Given the description of an element on the screen output the (x, y) to click on. 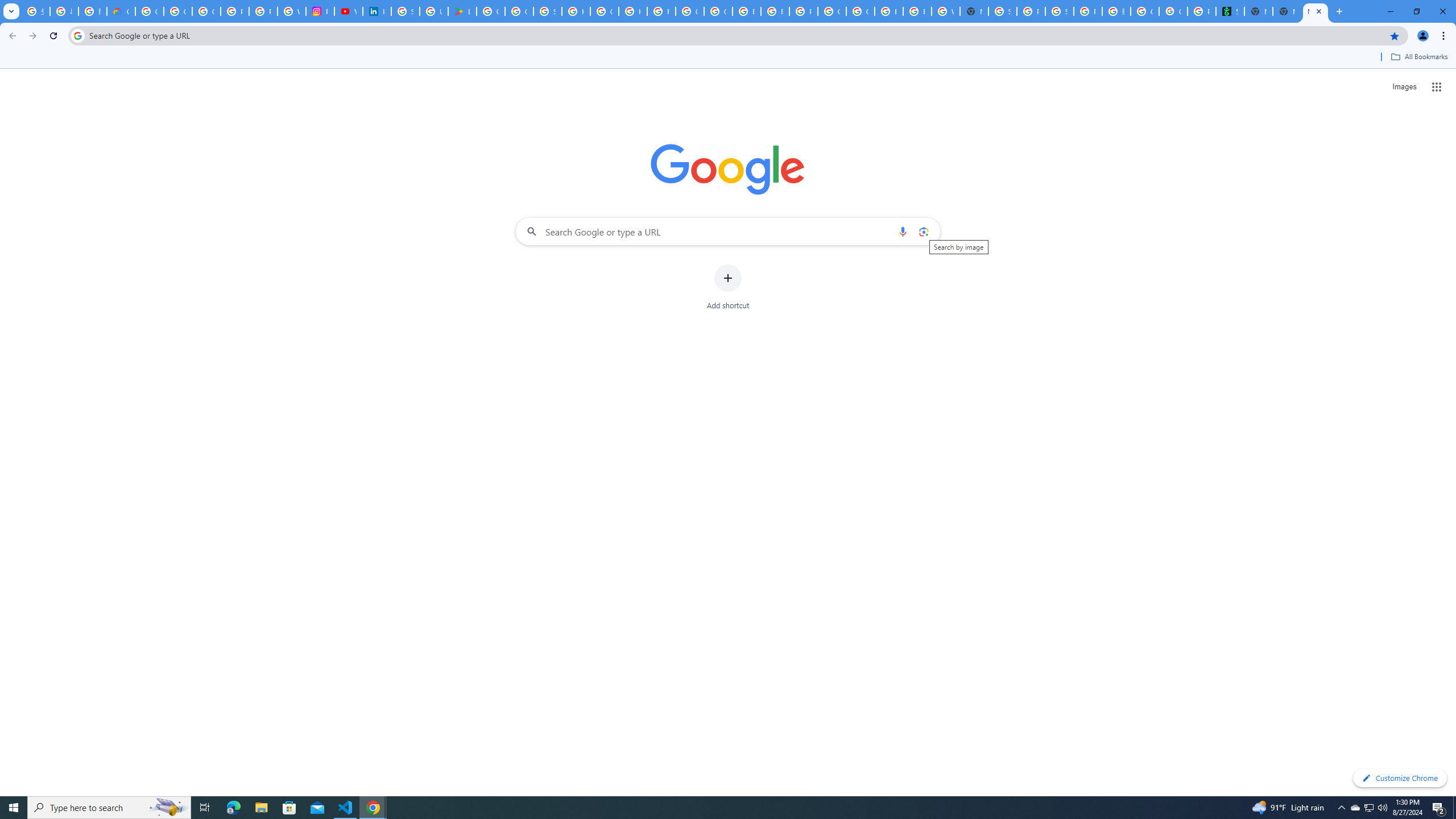
Sign in - Google Accounts (547, 11)
Google Workspace - Specific Terms (518, 11)
